Given the description of an element on the screen output the (x, y) to click on. 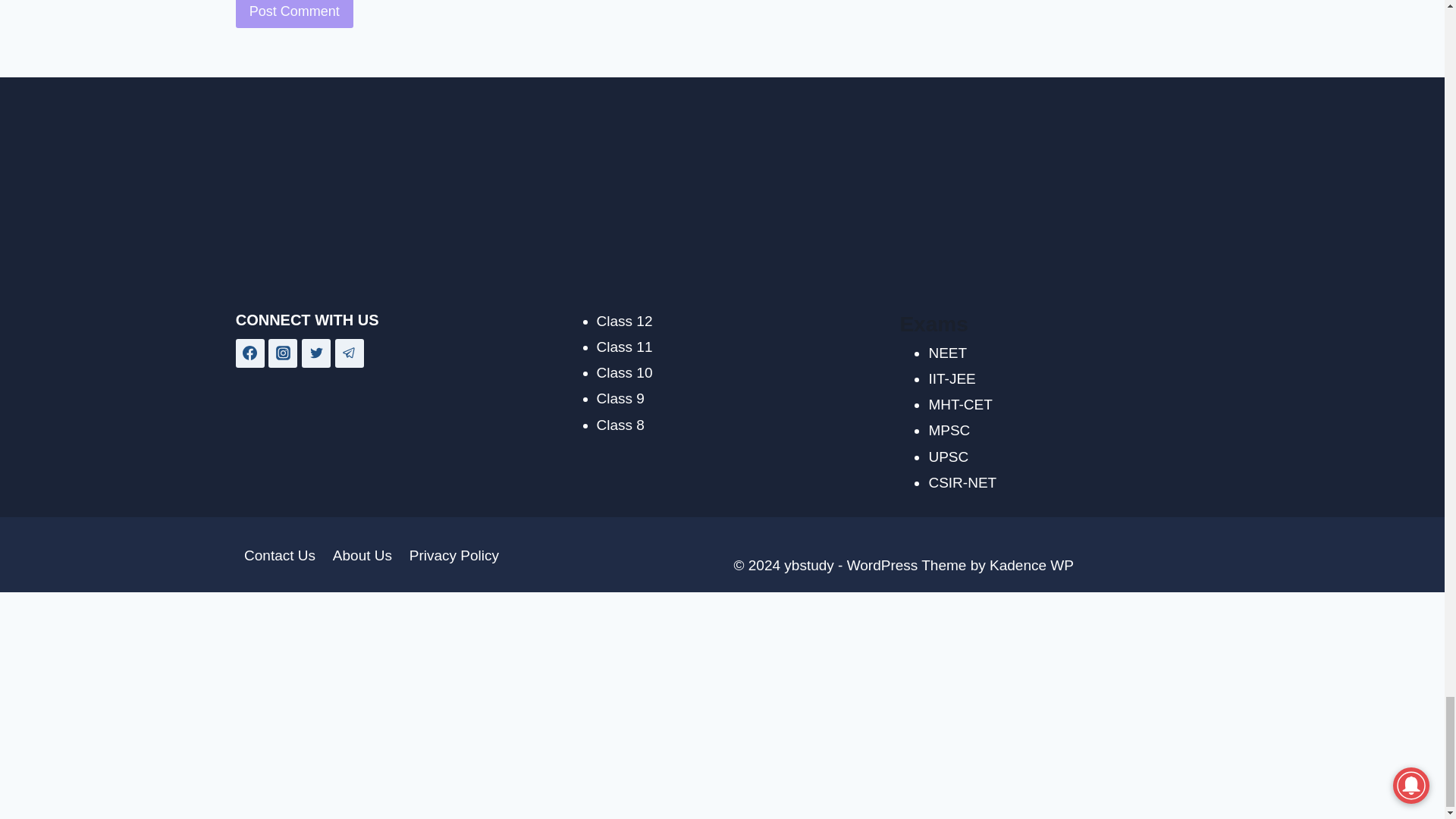
Post Comment (294, 13)
